Given the description of an element on the screen output the (x, y) to click on. 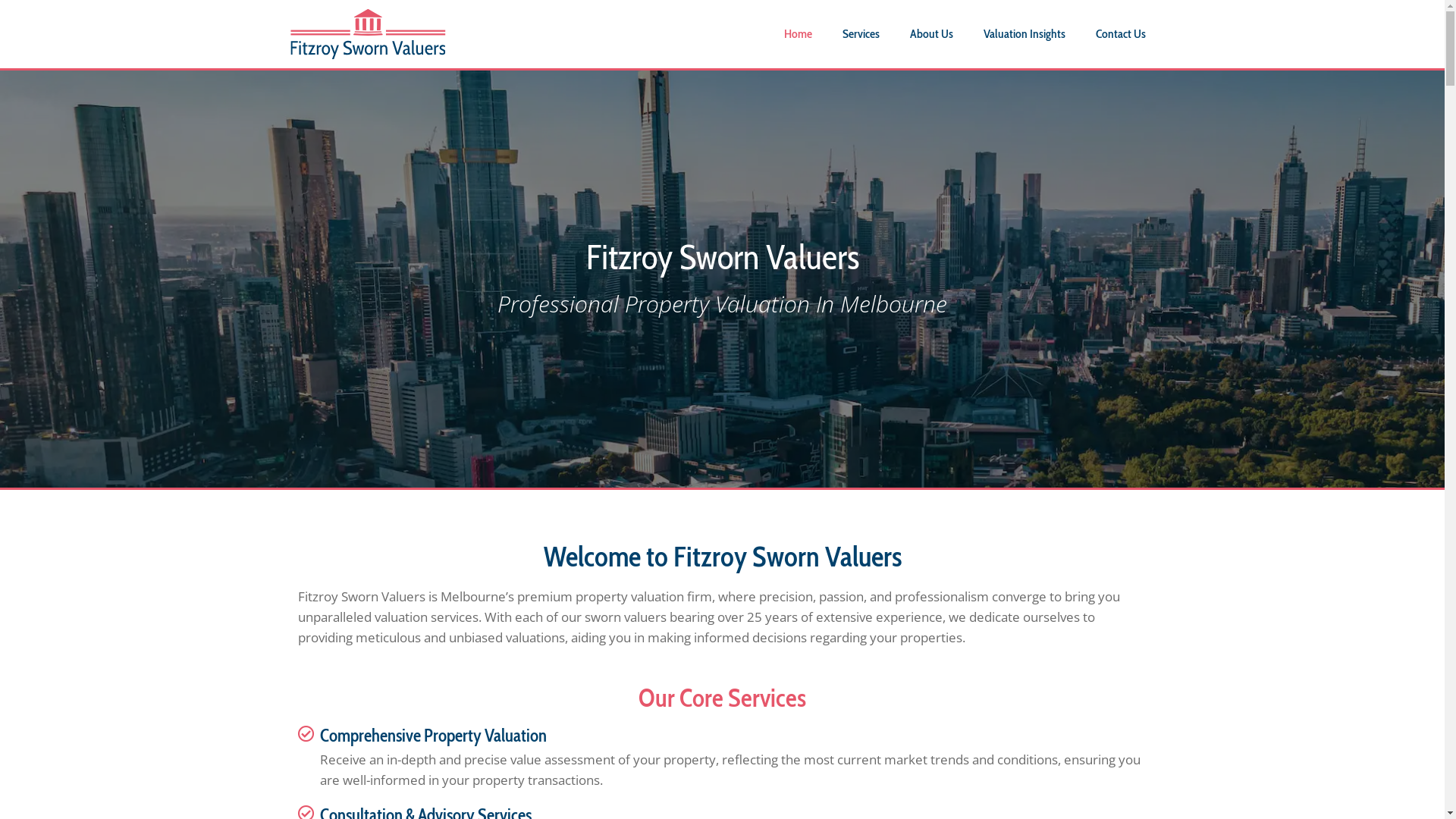
About Us Element type: text (931, 33)
Contact Us Element type: text (1120, 33)
Valuation Insights Element type: text (1024, 33)
Services Element type: text (860, 33)
Home Element type: text (797, 33)
